Given the description of an element on the screen output the (x, y) to click on. 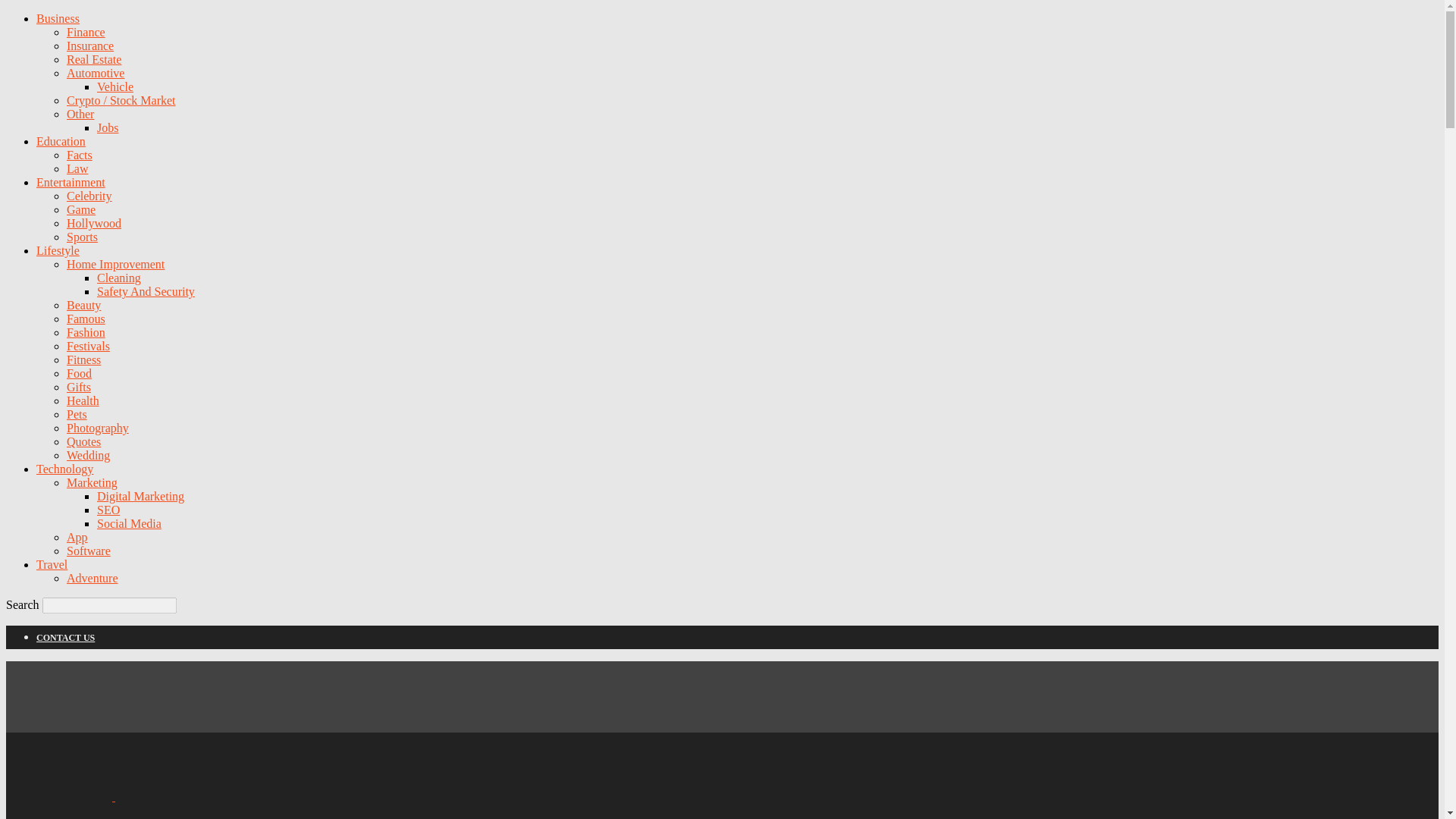
Education (60, 141)
Pets (76, 413)
Fashion (85, 332)
Game (81, 209)
Fitness (83, 359)
Photography (97, 427)
Sports (81, 236)
Festivals (88, 345)
Cleaning (119, 277)
Facts (79, 154)
